Given the description of an element on the screen output the (x, y) to click on. 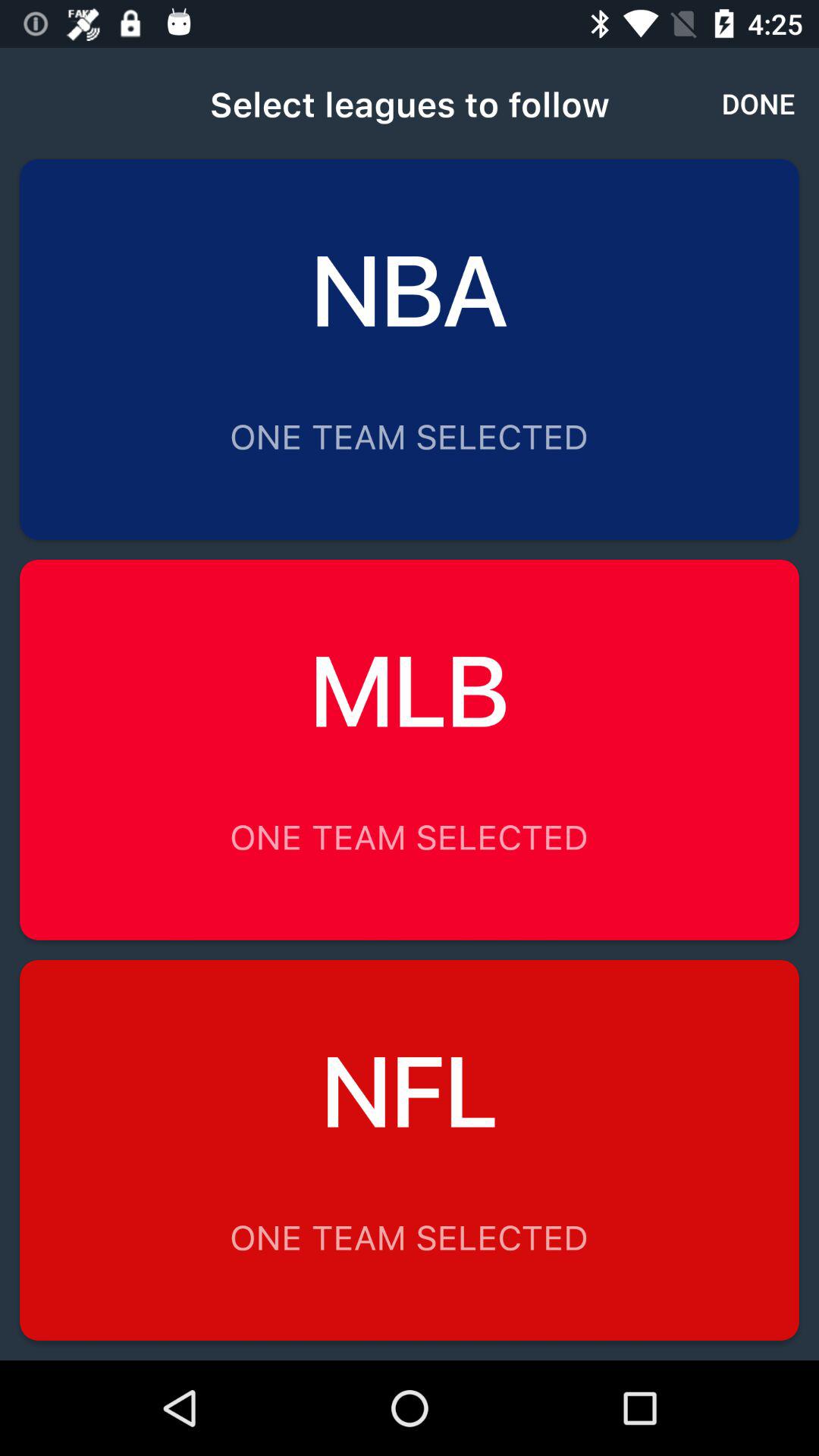
click the done item (758, 103)
